Given the description of an element on the screen output the (x, y) to click on. 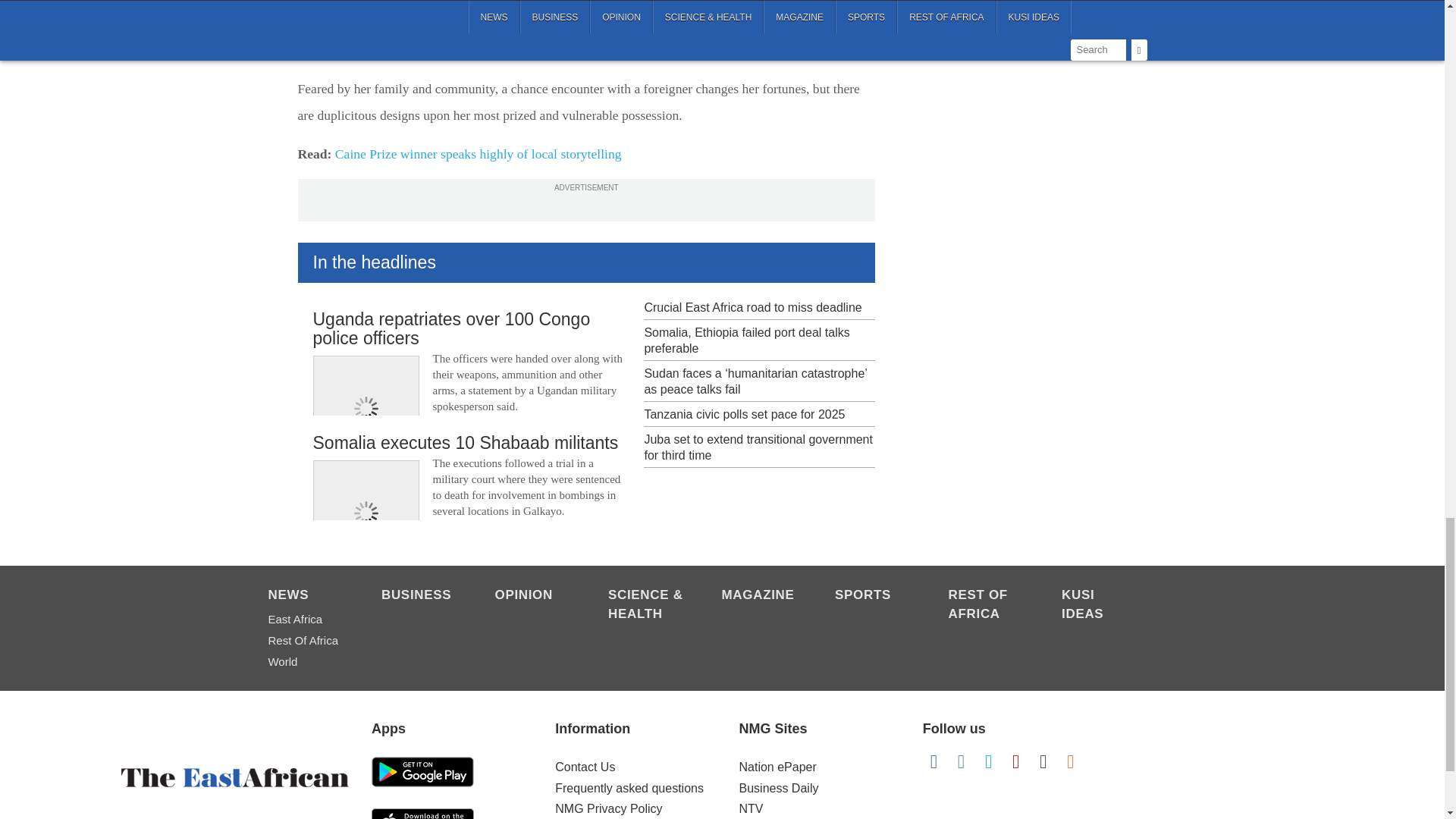
East Africa (306, 619)
Contact Us (584, 766)
Opinion (533, 596)
Rest of Africa (987, 605)
News (306, 596)
Sports (873, 596)
Magazine (760, 596)
Business (419, 596)
KUSI IDEAS (1099, 605)
Frequently asked questions (628, 788)
